Given the description of an element on the screen output the (x, y) to click on. 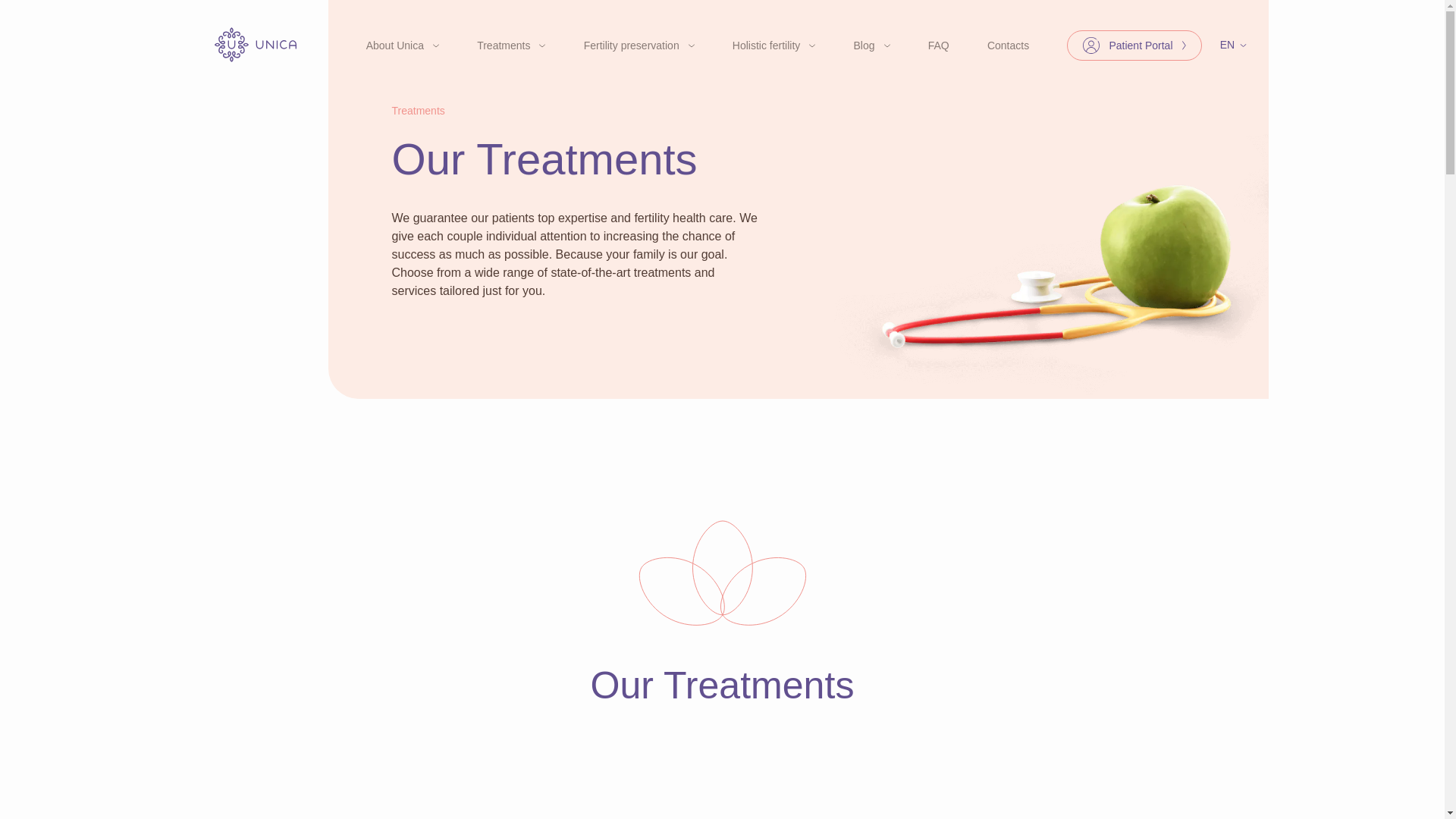
Holistic fertility (773, 45)
Fertility preservation (638, 45)
Treatments (510, 45)
About Unica (402, 45)
